Given the description of an element on the screen output the (x, y) to click on. 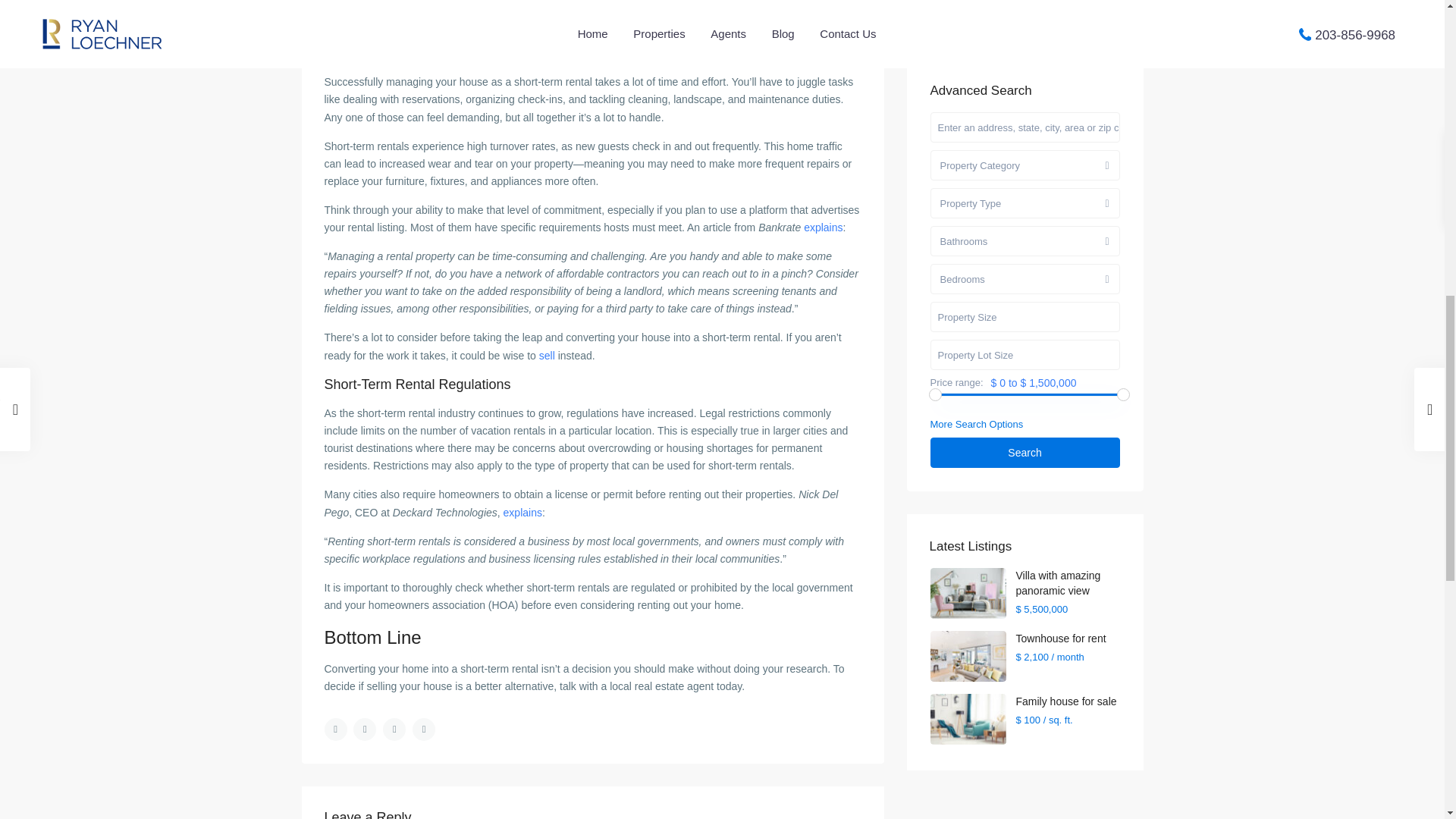
explains (823, 227)
selling (779, 24)
sell (546, 355)
explains (522, 512)
